Given the description of an element on the screen output the (x, y) to click on. 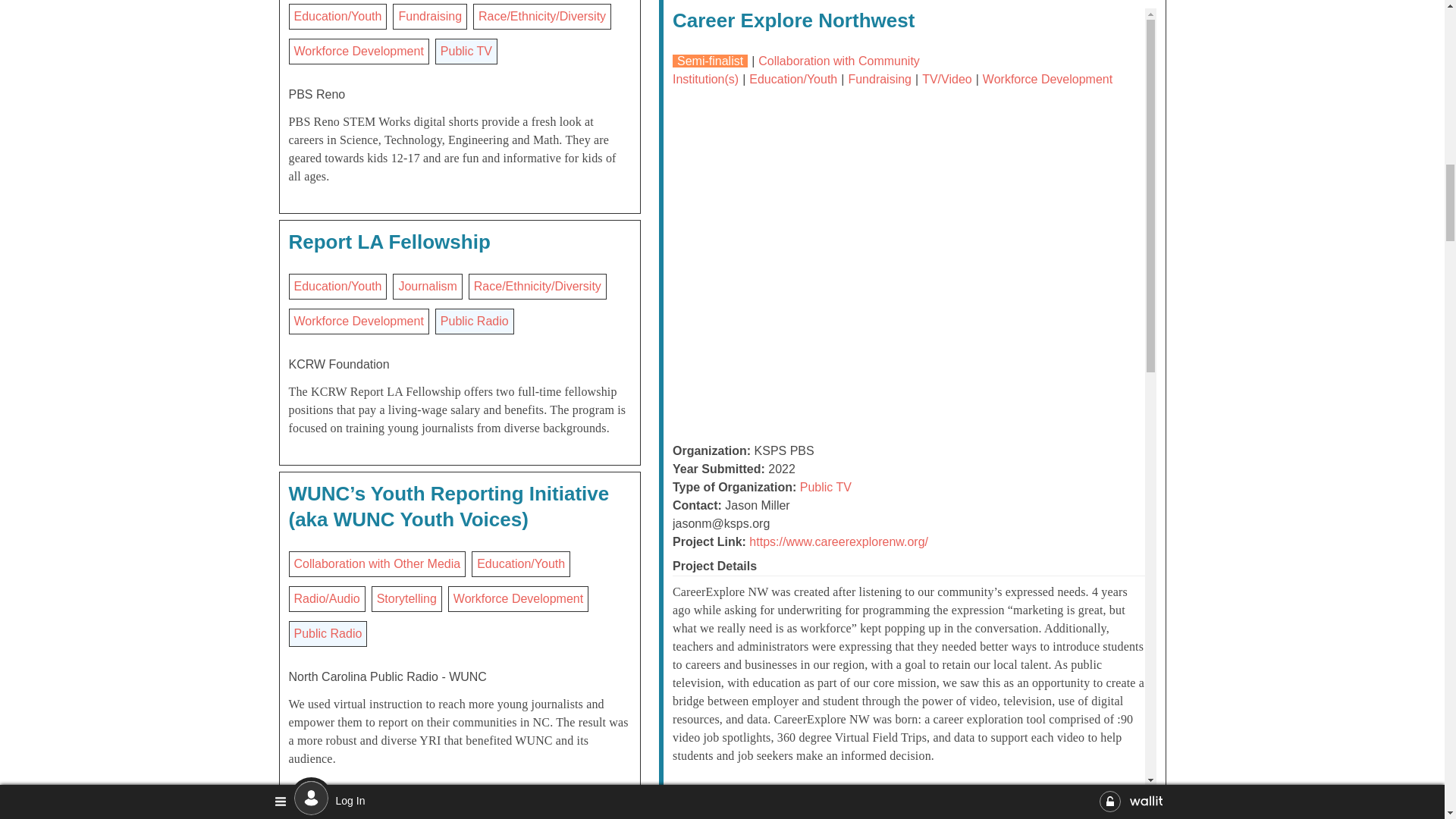
Journalism (427, 286)
Permalink to Education Counts Michiana (417, 816)
Permalink to Report LA Fellowship (388, 241)
Fundraising (429, 15)
Workforce Development (358, 320)
Workforce Development (358, 51)
Public TV (466, 51)
Report LA Fellowship (388, 241)
